Given the description of an element on the screen output the (x, y) to click on. 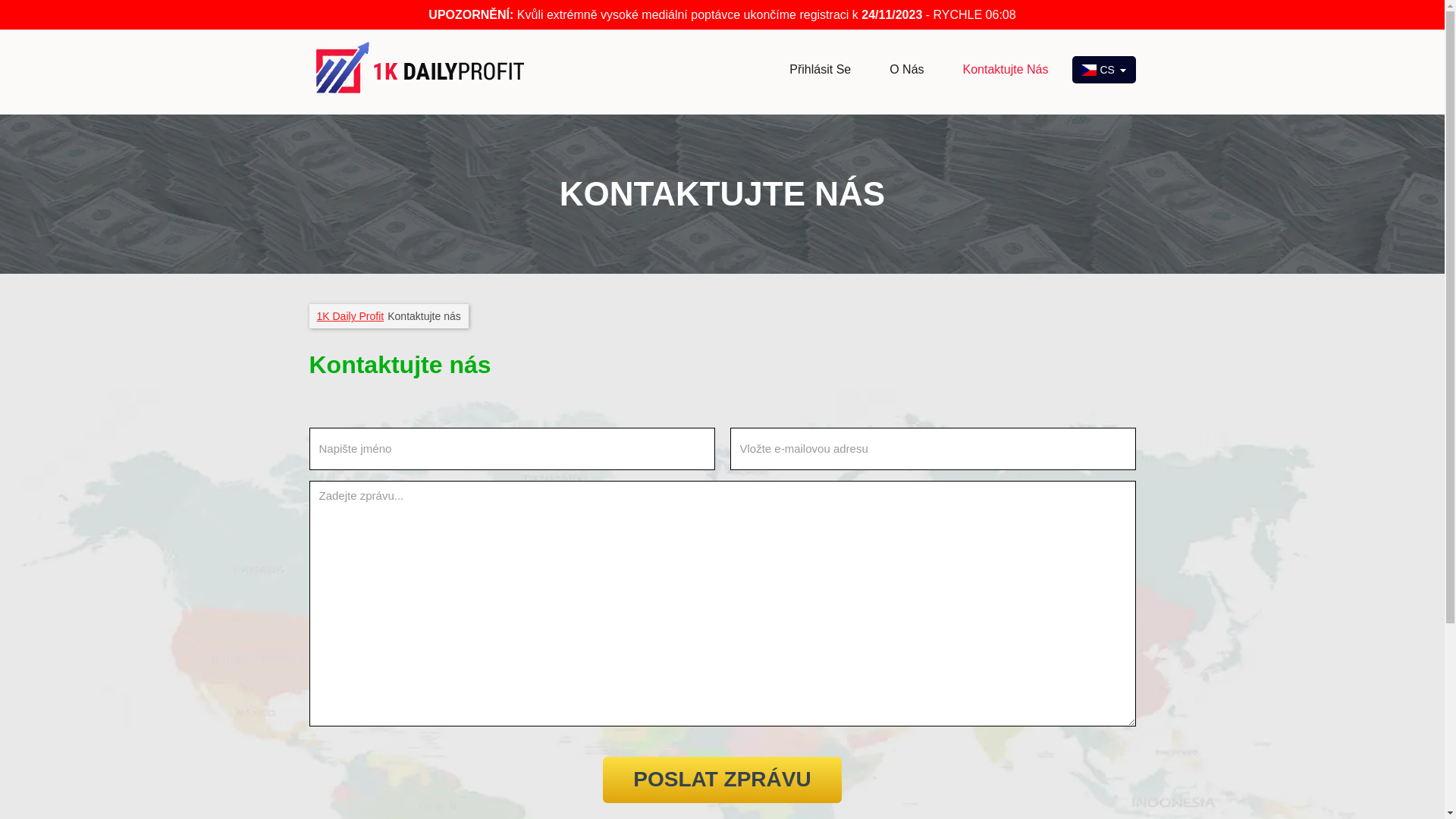
1K Daily Profit Element type: text (350, 316)
